Given the description of an element on the screen output the (x, y) to click on. 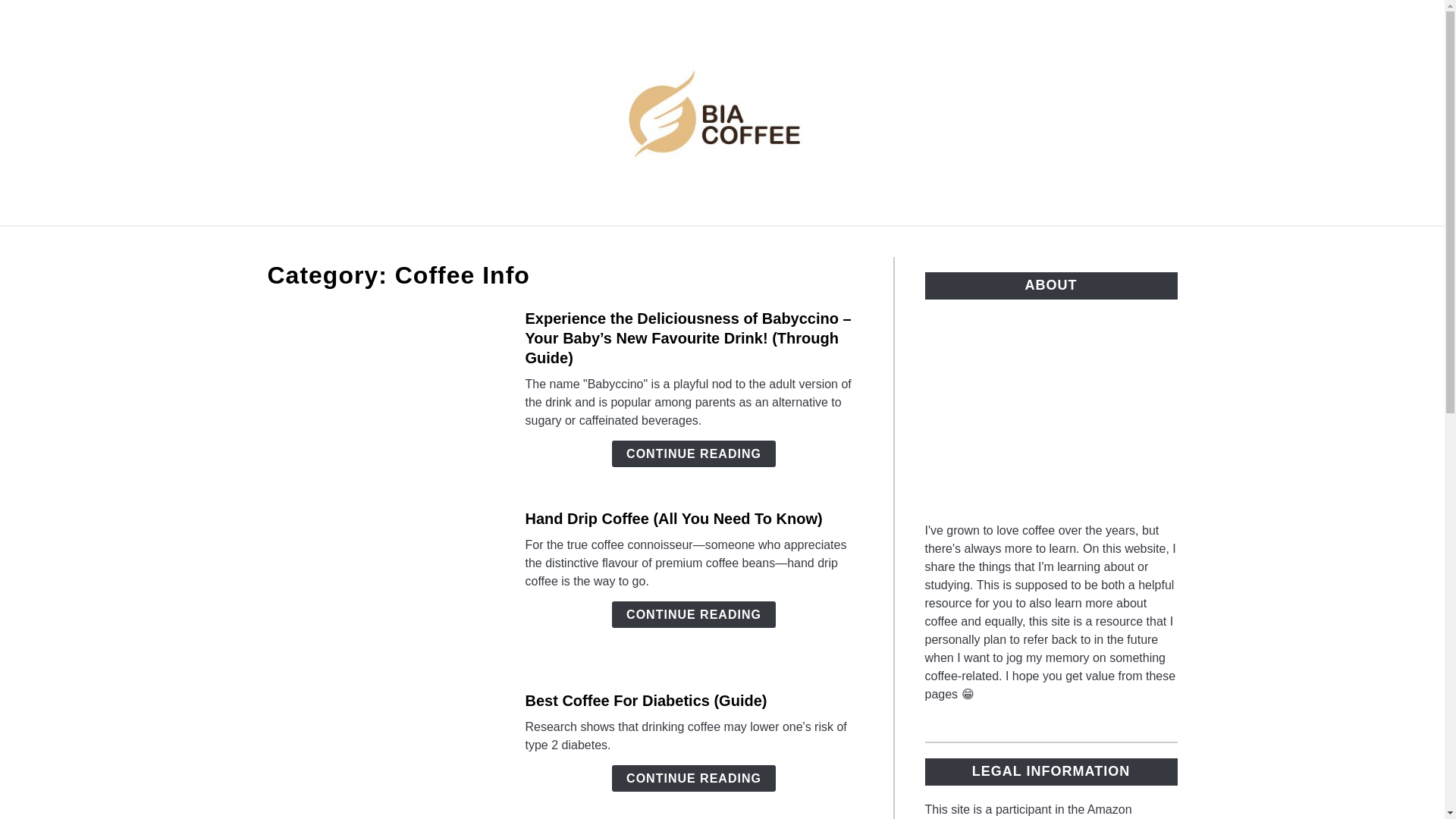
REVIEW (861, 243)
Search (1203, 112)
CONTINUE READING (693, 614)
COFFEE INFO (601, 243)
COMPARE (771, 243)
CONTINUE READING (693, 777)
CONTINUE READING (693, 453)
